Given the description of an element on the screen output the (x, y) to click on. 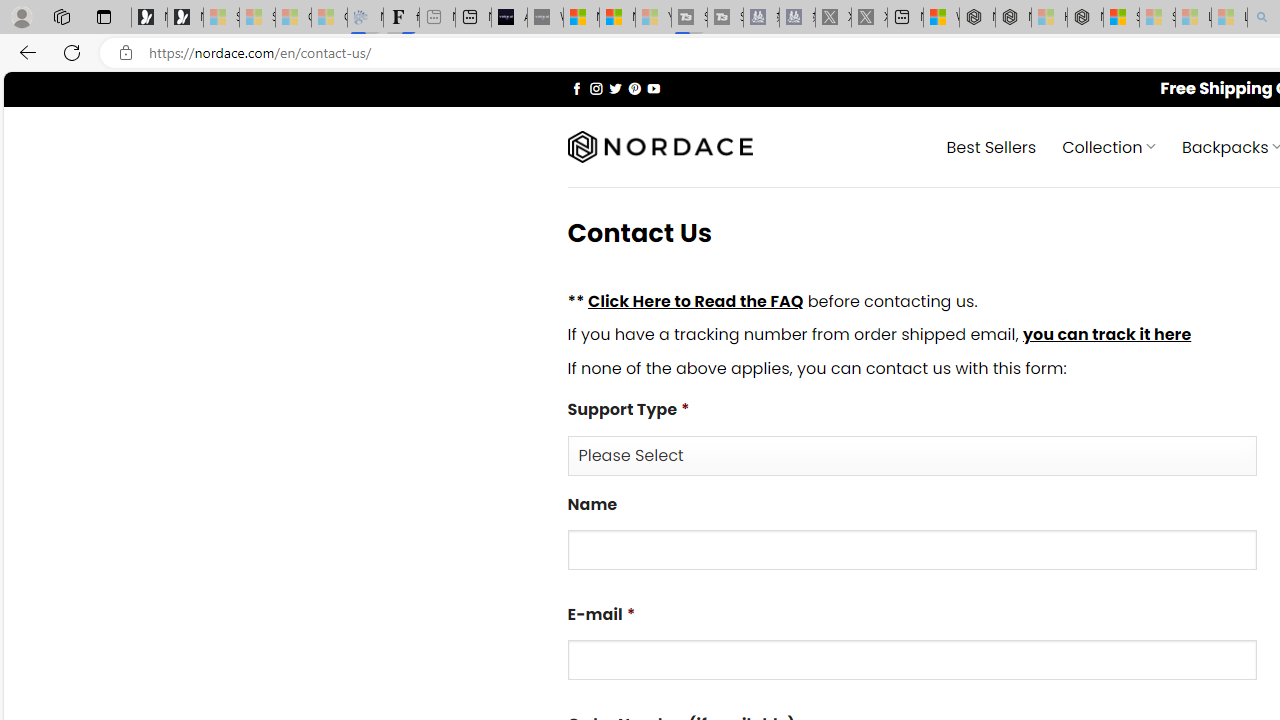
Follow on Pinterest (634, 88)
What's the best AI voice generator? - voice.ai - Sleeping (545, 17)
Support Type* (911, 454)
Follow on YouTube (653, 88)
Follow on Twitter (615, 88)
